Given the description of an element on the screen output the (x, y) to click on. 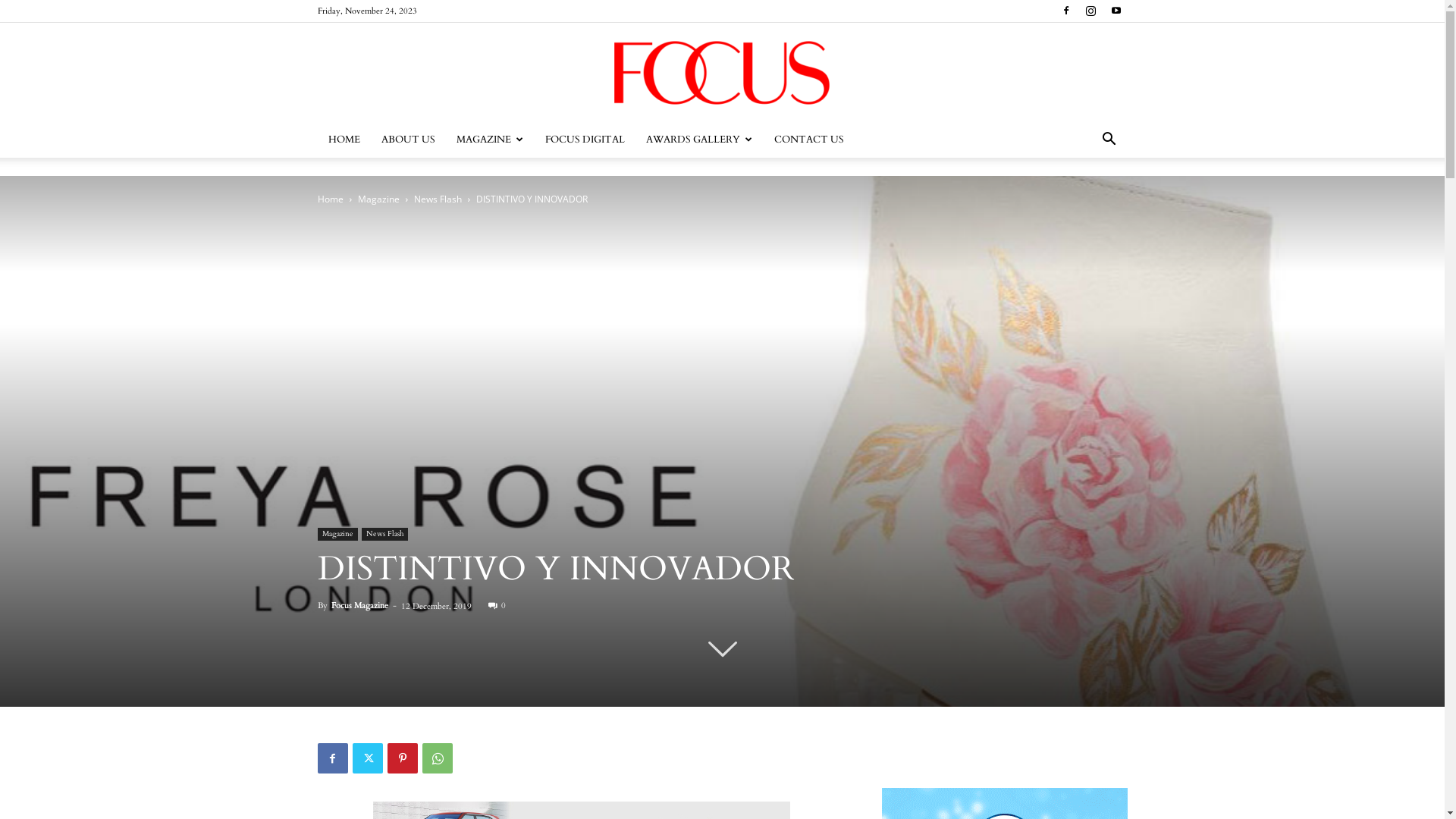
News Flash Element type: text (383, 533)
CONTACT US Element type: text (807, 139)
ABOUT US Element type: text (407, 139)
Pinterest Element type: hover (401, 758)
Twitter Element type: hover (366, 758)
FOCUS DIGITAL Element type: text (583, 139)
Instagram Element type: hover (1090, 10)
Magazine Element type: text (336, 533)
Focus Magazine Element type: text (358, 605)
AWARDS GALLERY Element type: text (699, 139)
Focus Element type: text (721, 72)
Home Element type: text (329, 198)
Youtube Element type: hover (1115, 10)
Search Element type: text (1085, 200)
Facebook Element type: hover (331, 758)
Facebook Element type: hover (1065, 10)
HOME Element type: text (343, 139)
0 Element type: text (496, 605)
Magazine Element type: text (378, 198)
News Flash Element type: text (437, 198)
WhatsApp Element type: hover (436, 758)
MAGAZINE Element type: text (489, 139)
